Given the description of an element on the screen output the (x, y) to click on. 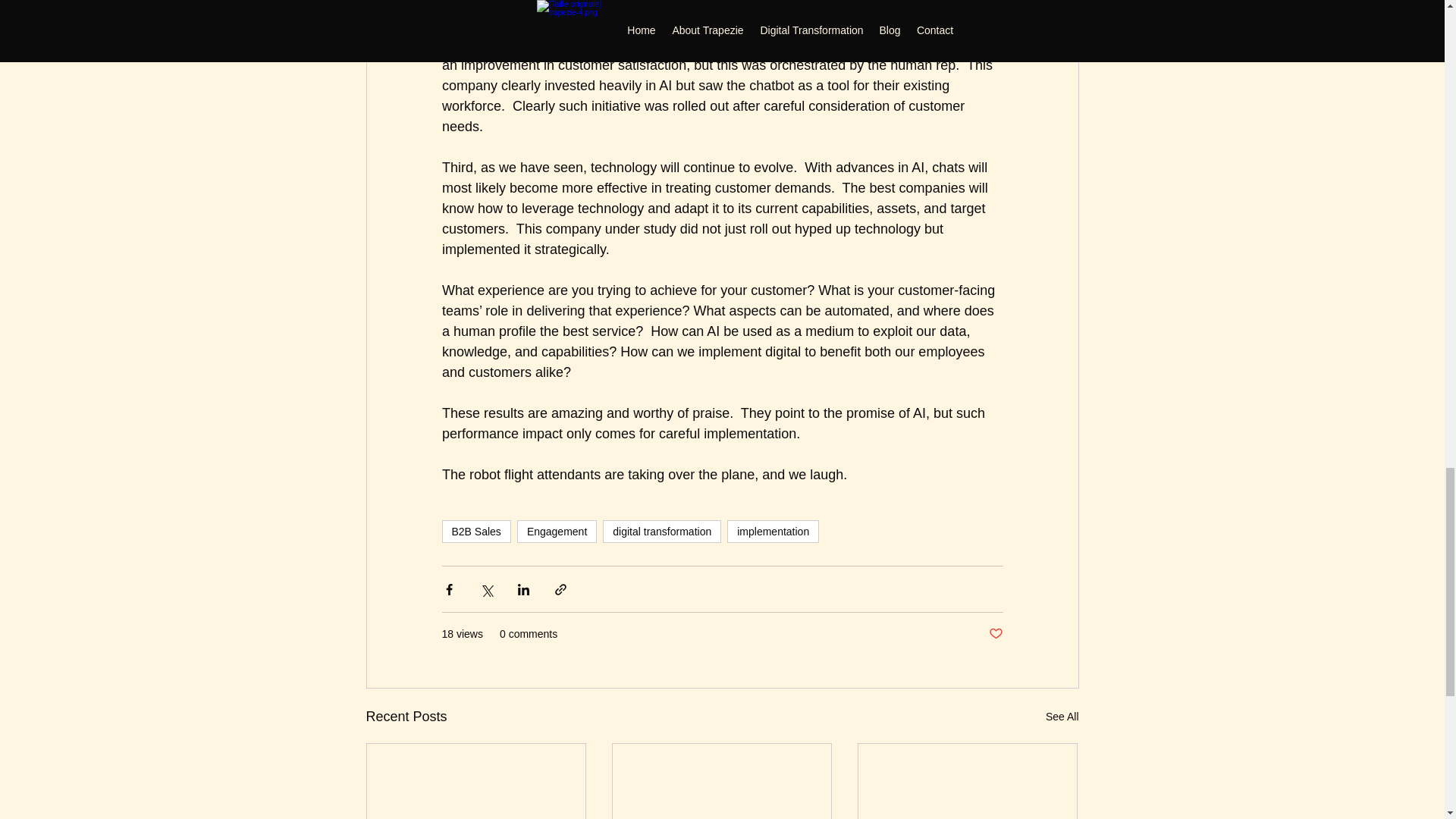
implementation (772, 531)
Engagement (556, 531)
B2B Sales (476, 531)
Post not marked as liked (995, 634)
See All (1061, 716)
digital transformation (661, 531)
